Given the description of an element on the screen output the (x, y) to click on. 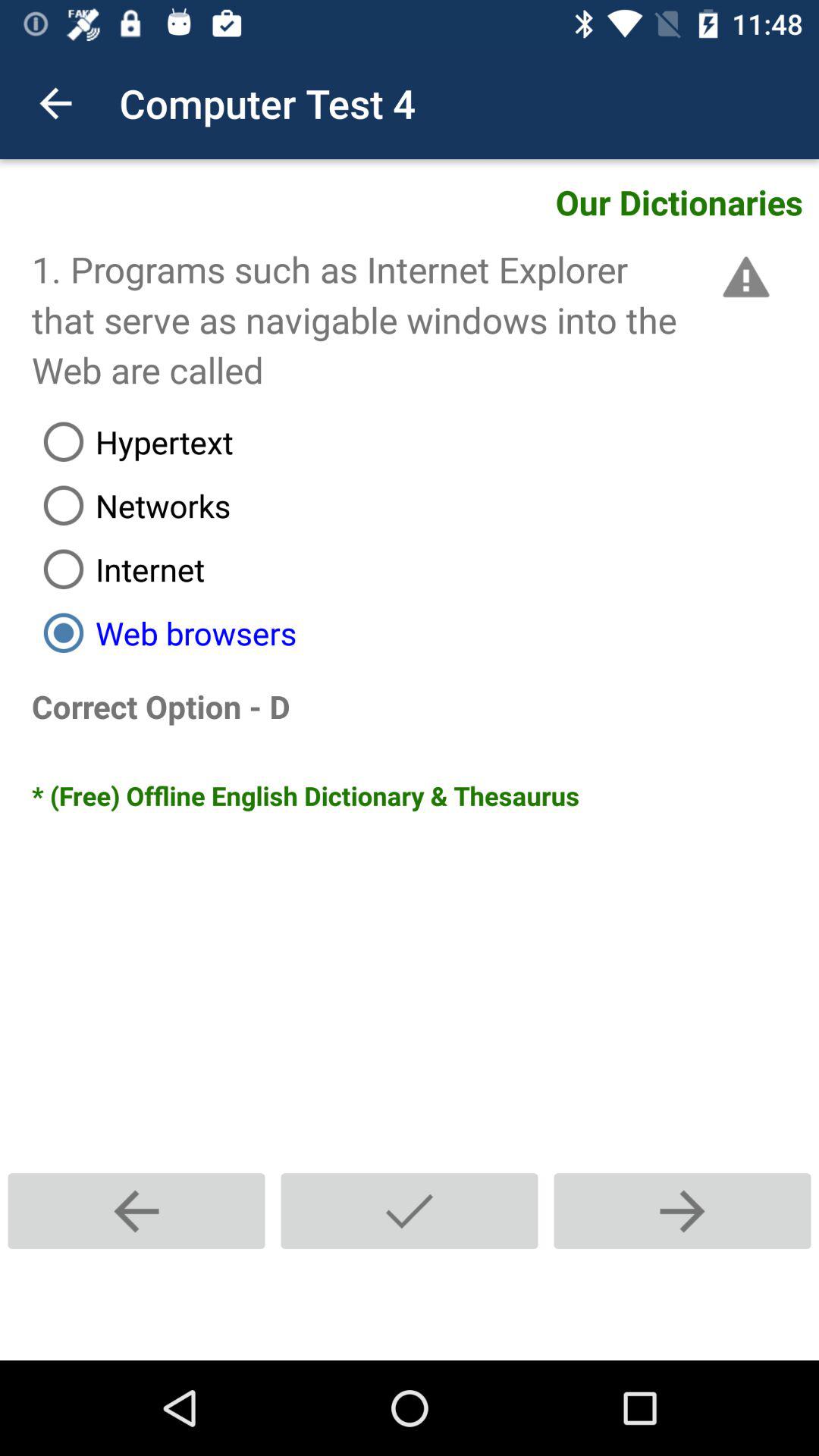
go to next screen (682, 1210)
